Given the description of an element on the screen output the (x, y) to click on. 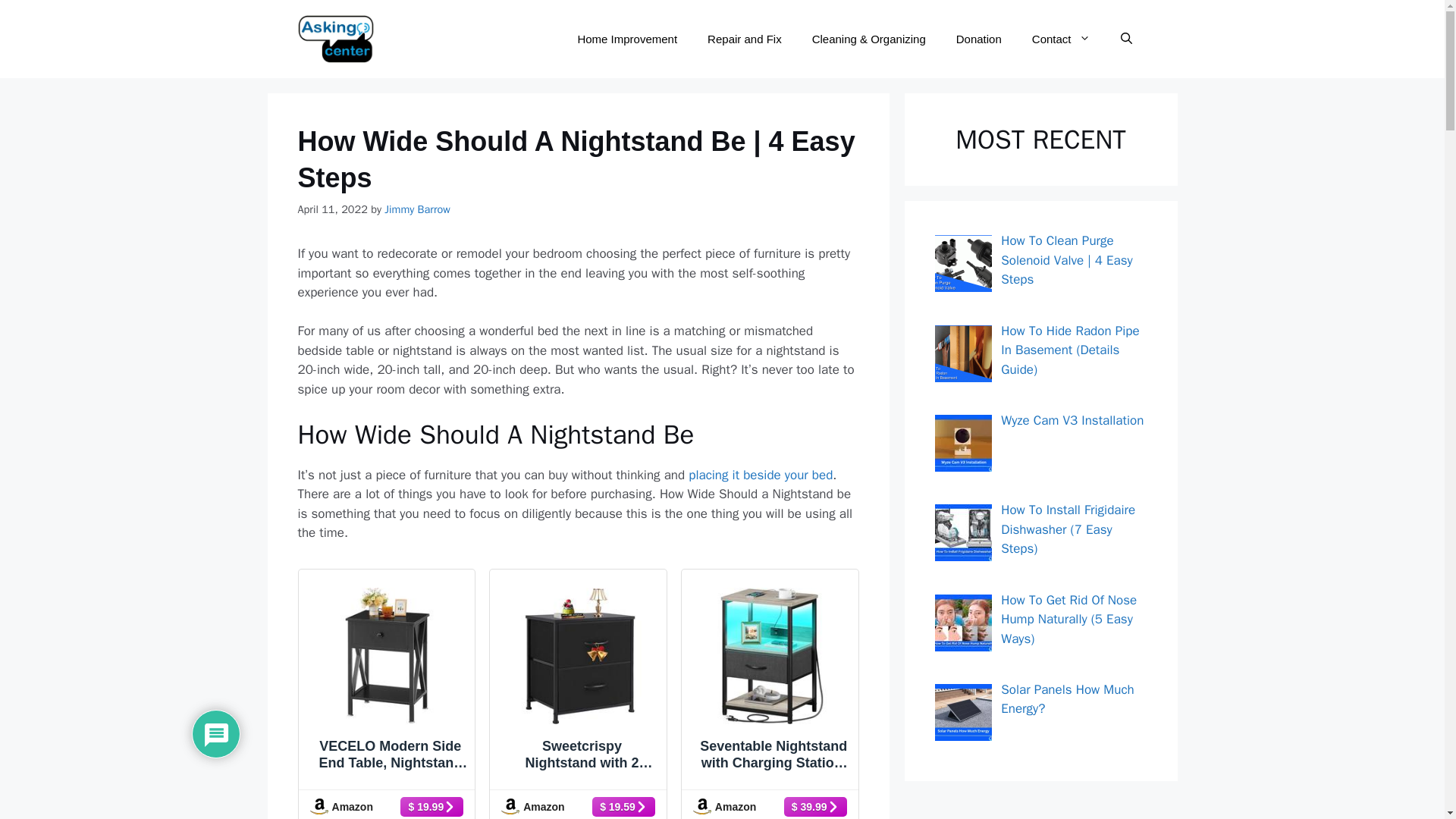
Home Improvement (627, 39)
Donation (978, 39)
View all posts by Jimmy Barrow (416, 209)
Contact (1060, 39)
placing it beside your bed (760, 474)
Repair and Fix (744, 39)
Jimmy Barrow (416, 209)
